Given the description of an element on the screen output the (x, y) to click on. 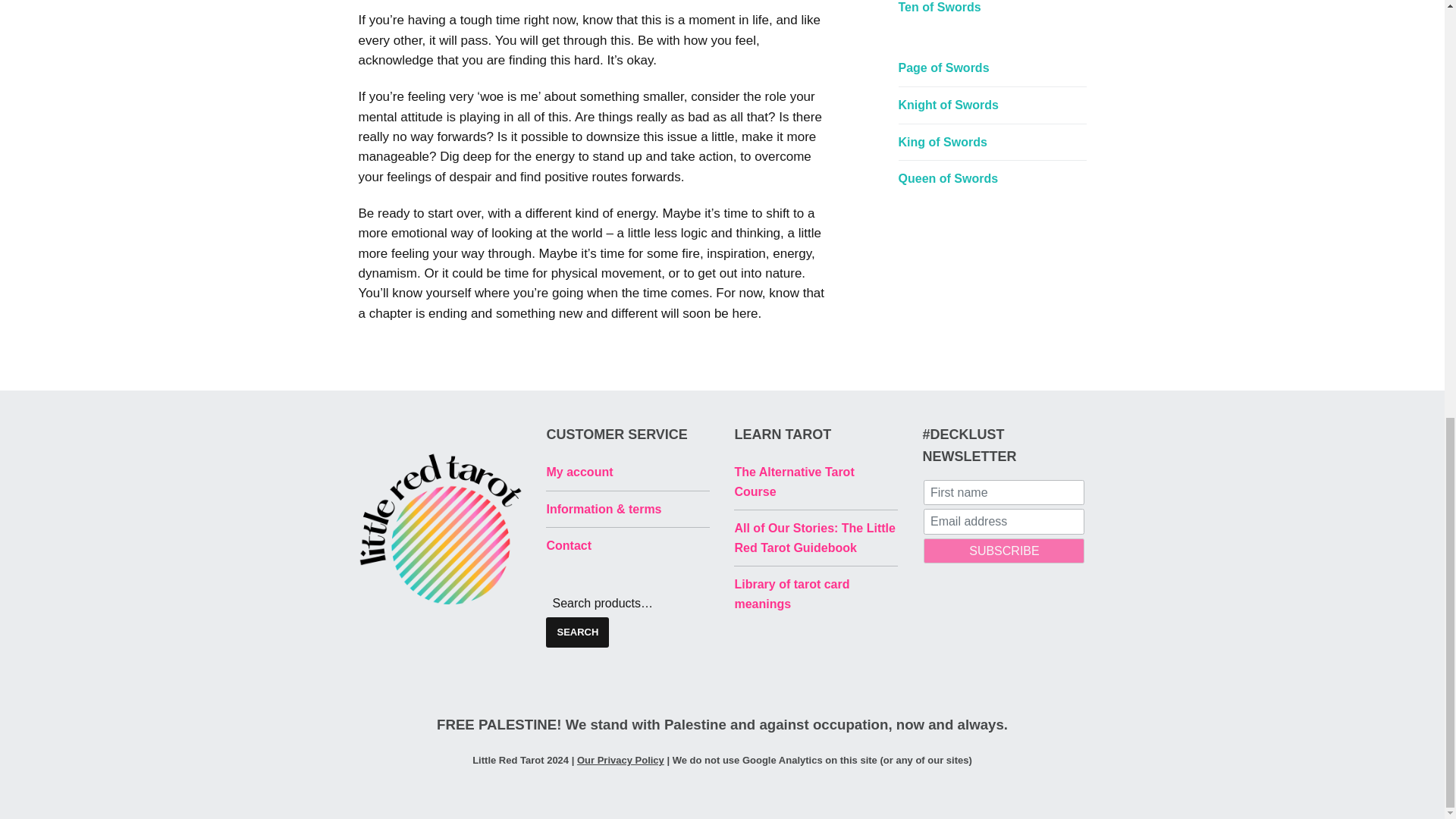
Subscribe (1003, 551)
